Given the description of an element on the screen output the (x, y) to click on. 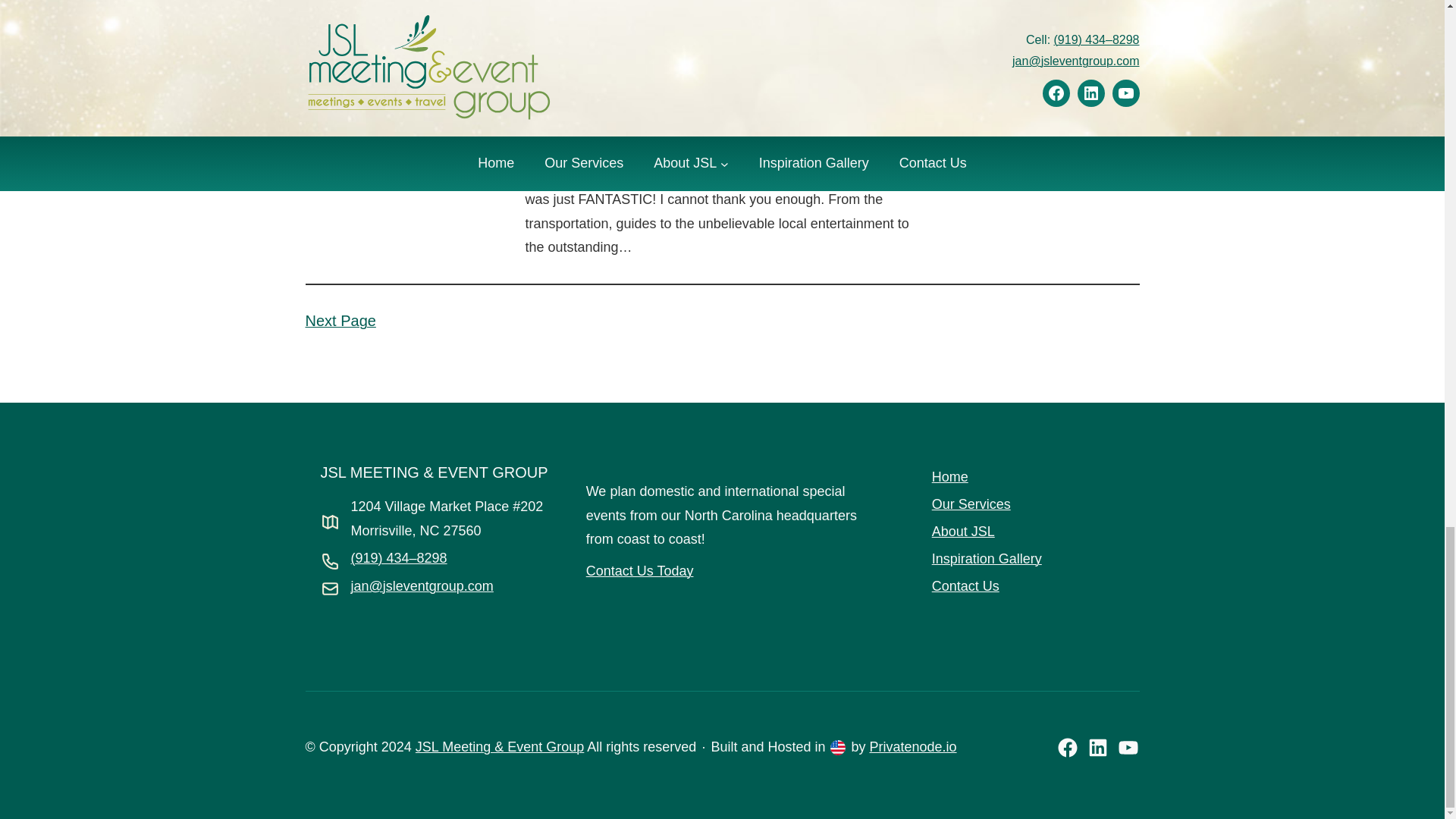
Next Page (339, 320)
What a Night! (579, 138)
